Given the description of an element on the screen output the (x, y) to click on. 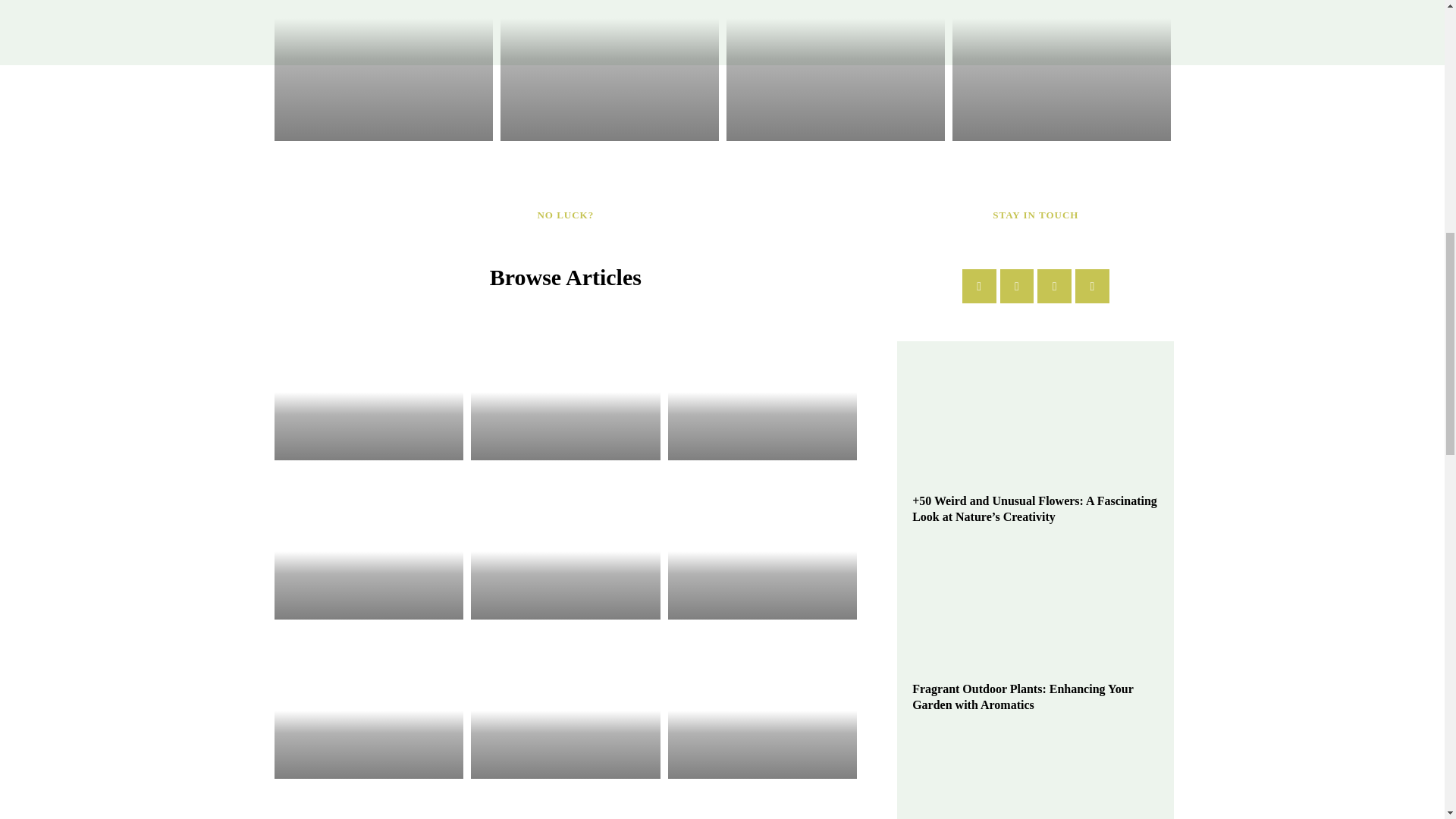
Edible Outdoor Plants: How to Grow Your Own Fresh Produce (835, 70)
